Given the description of an element on the screen output the (x, y) to click on. 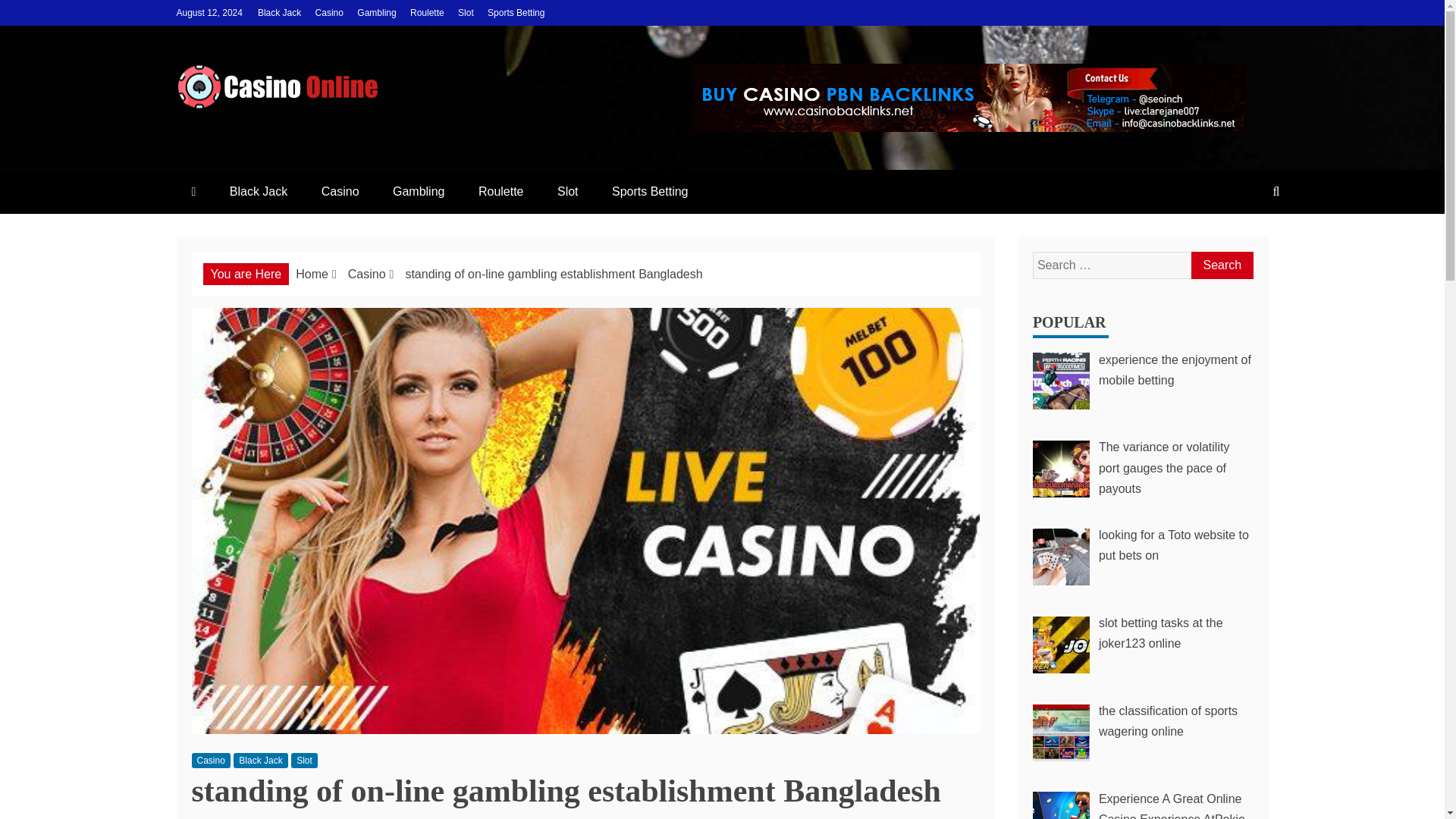
Black Jack (259, 760)
Roulette (500, 190)
Gambling (418, 190)
Casino (366, 273)
Search (1221, 265)
Casino (339, 190)
casino-online-in-italiano.com (383, 135)
Gambling (376, 12)
Dennis Ross (296, 818)
Sports Betting (649, 190)
